Given the description of an element on the screen output the (x, y) to click on. 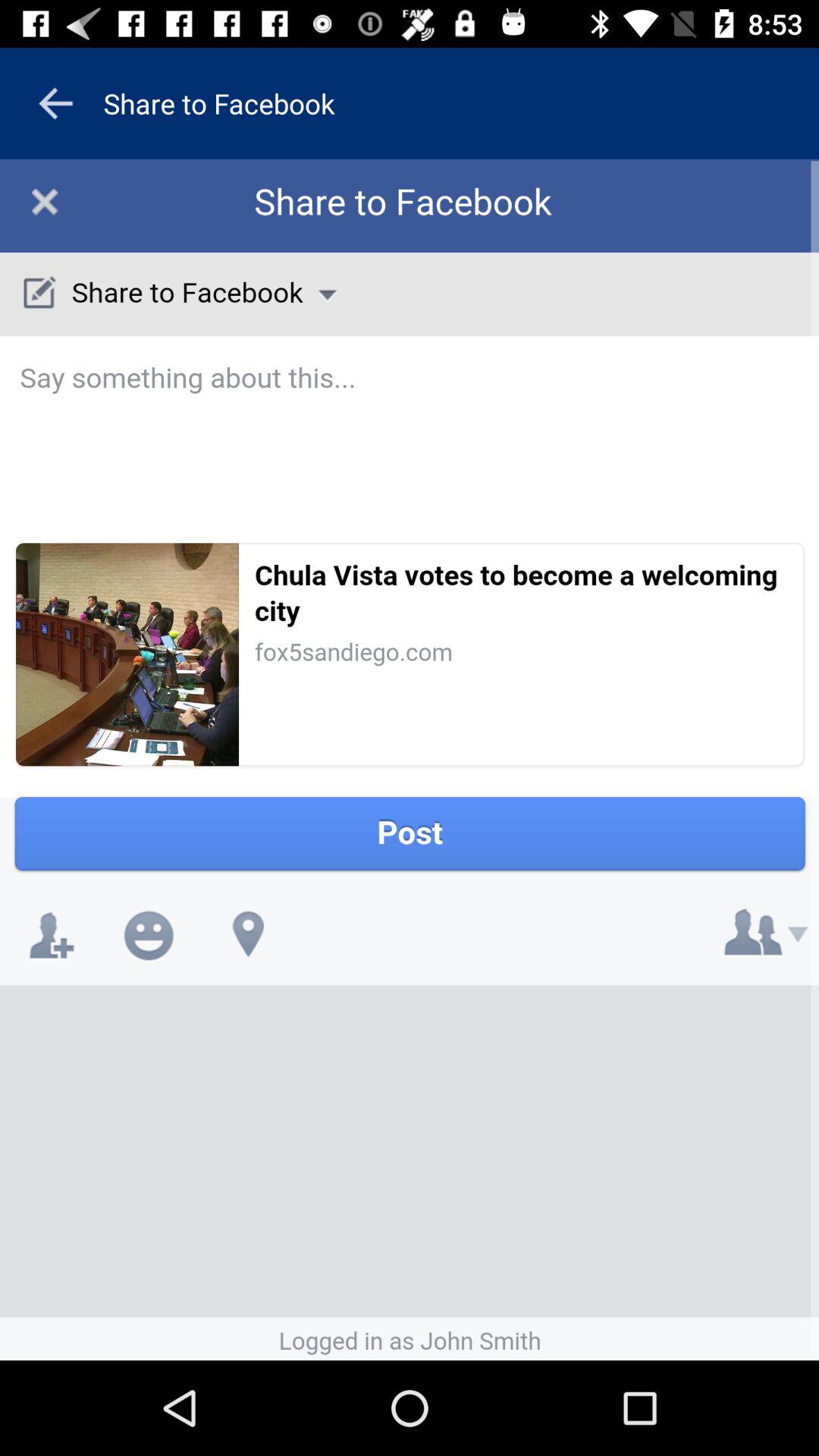
back button (55, 103)
